Given the description of an element on the screen output the (x, y) to click on. 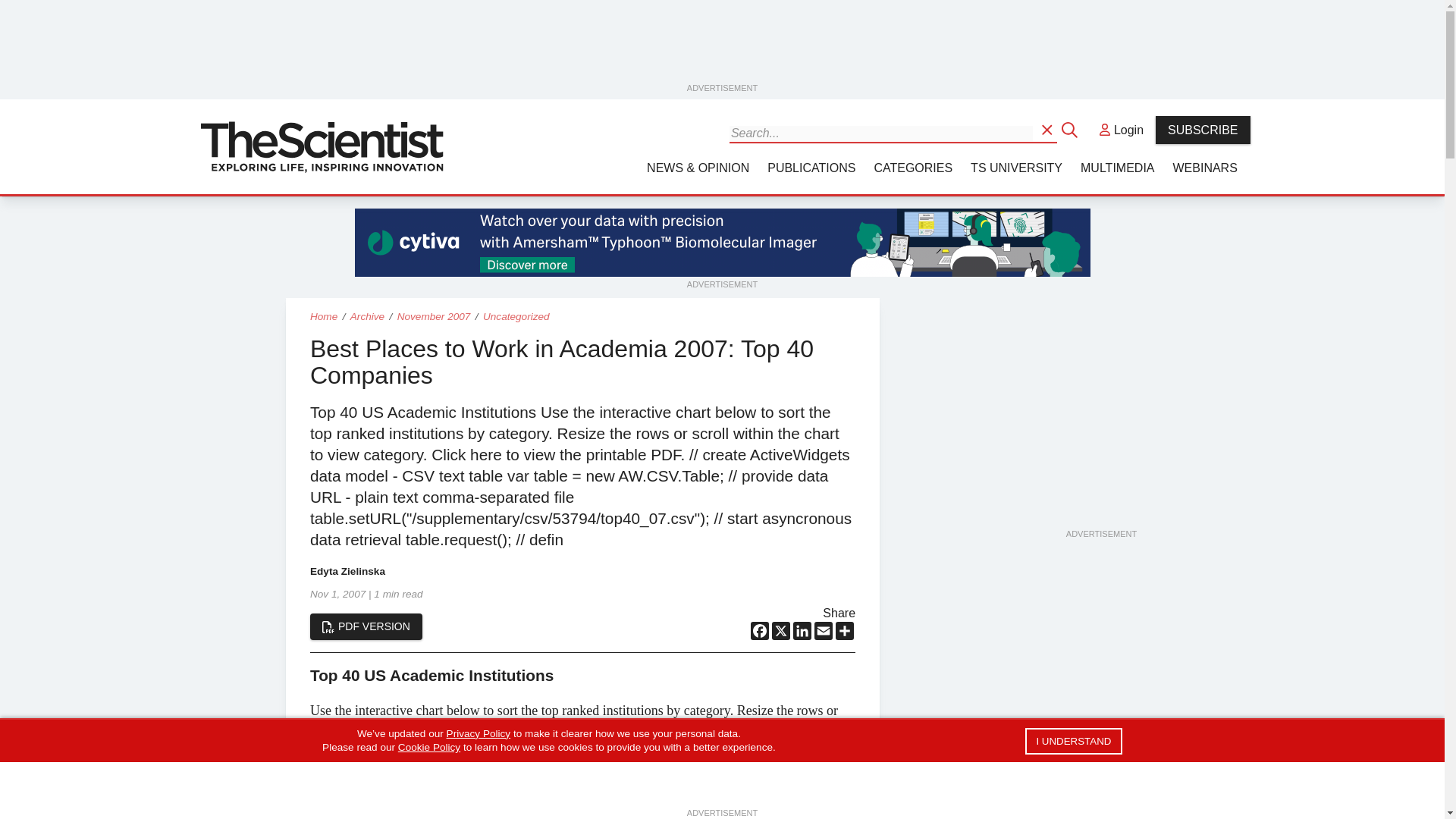
3rd party ad content (1100, 432)
Close Search (1071, 129)
3rd party ad content (722, 46)
Open Search (1049, 129)
3rd party ad content (722, 242)
